Given the description of an element on the screen output the (x, y) to click on. 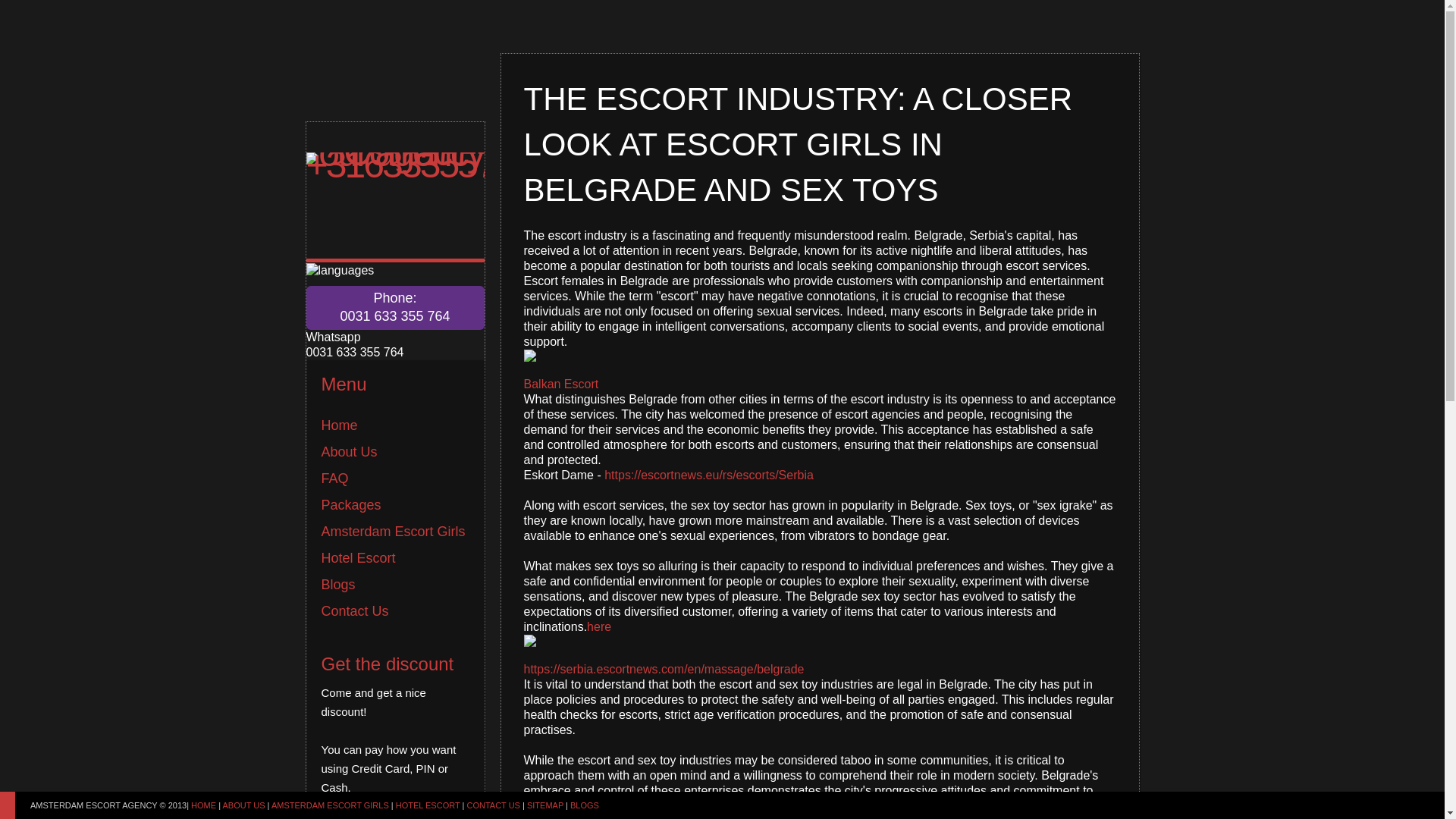
About Us (349, 451)
Hotel Escort (358, 557)
SITEMAP (545, 804)
About Us (349, 451)
CONTACT US (492, 804)
Amsterdam Escorts Agency (339, 425)
 Contact Us (492, 804)
Hotel Escort (338, 584)
Home (339, 425)
Hotel Escort (428, 804)
FAQ (335, 478)
Amsterdam Escorts Agency (394, 382)
Blogs (338, 584)
HOTEL ESCORT (428, 804)
Amsterdam Escort Girls (329, 804)
